Given the description of an element on the screen output the (x, y) to click on. 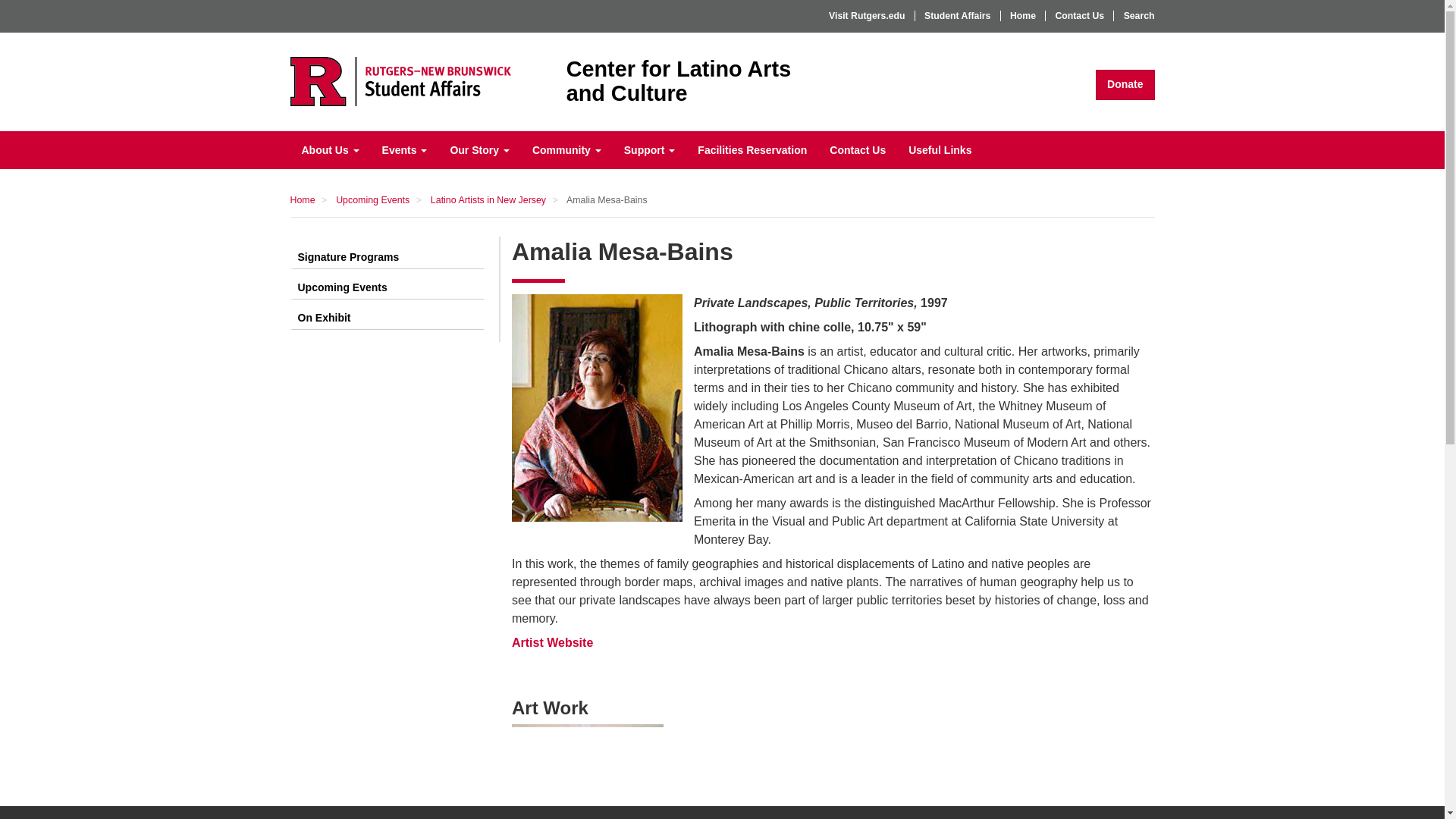
Donate (1125, 84)
Our Story (478, 149)
Community (566, 149)
Events (405, 149)
Home (1023, 15)
Home (400, 81)
Visit Rutgers.edu (867, 15)
Student Affairs (958, 15)
Search (1133, 15)
Private Landscapes, Public Territories, 1997 (587, 739)
About Us (757, 81)
Contact Us (329, 149)
Home (1079, 15)
